Given the description of an element on the screen output the (x, y) to click on. 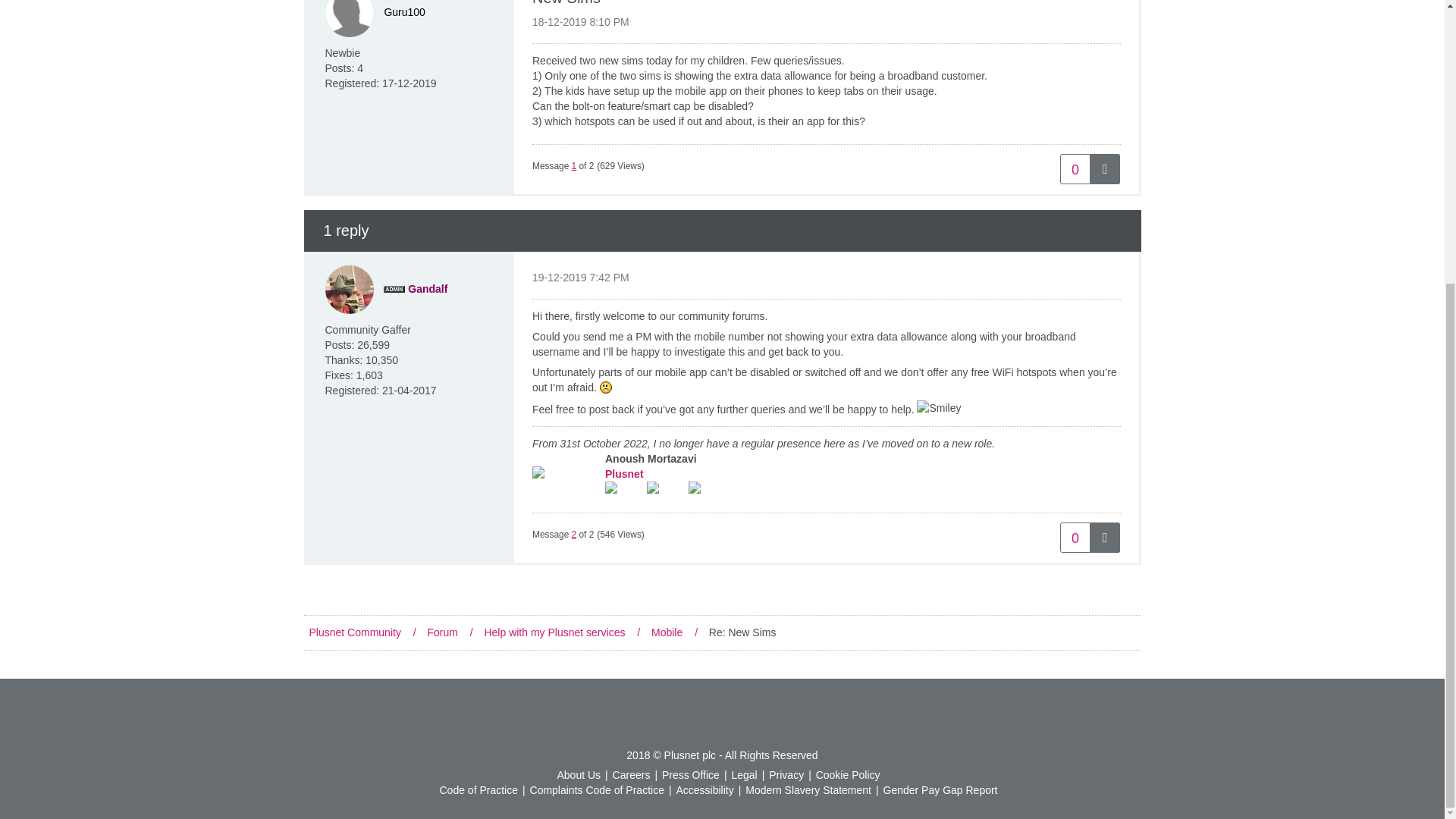
Guru100 (348, 18)
Gandalf (348, 289)
Guru100 (404, 11)
